Given the description of an element on the screen output the (x, y) to click on. 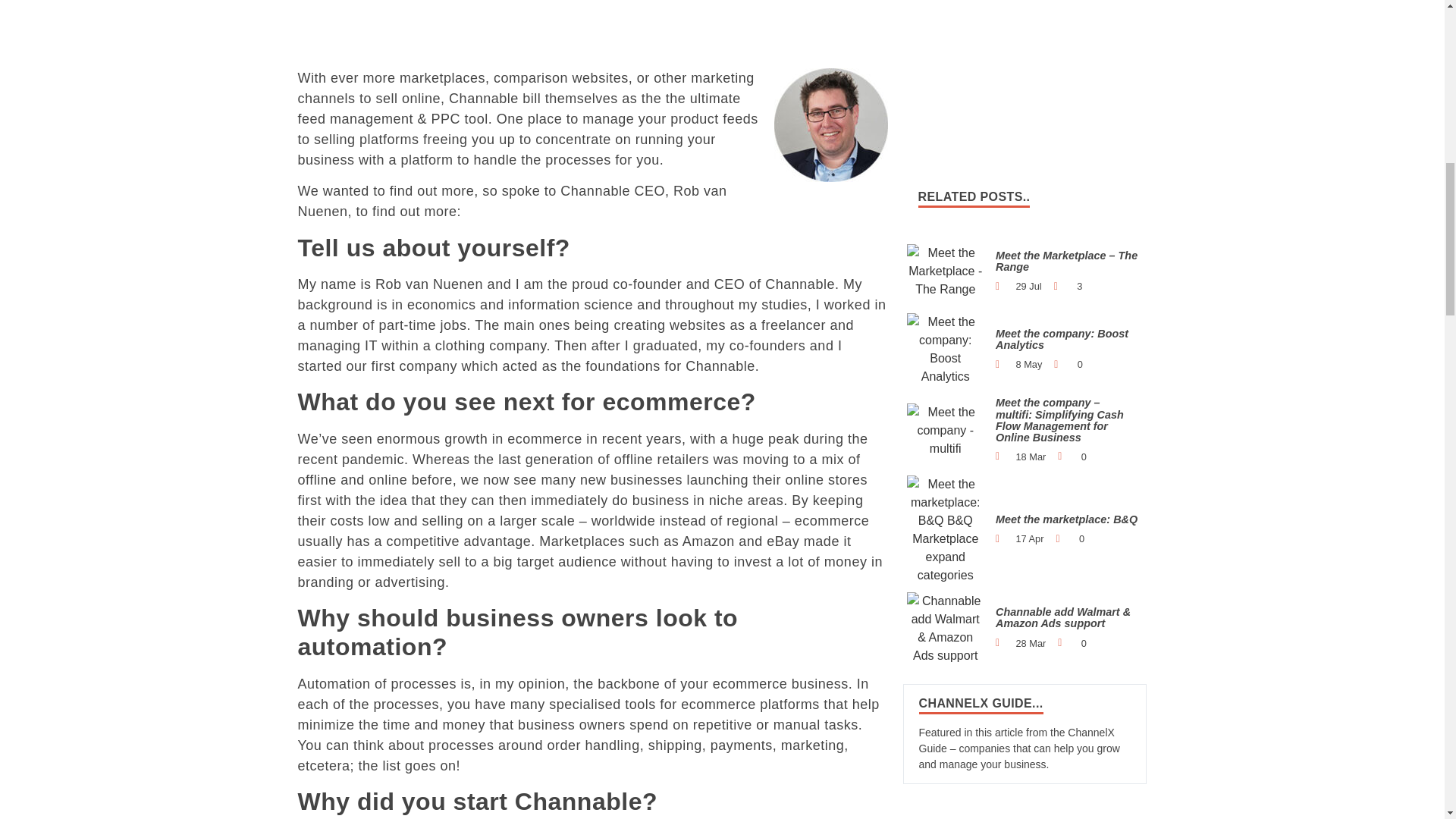
Meet the company: Boost Analytics (946, 348)
